Given the description of an element on the screen output the (x, y) to click on. 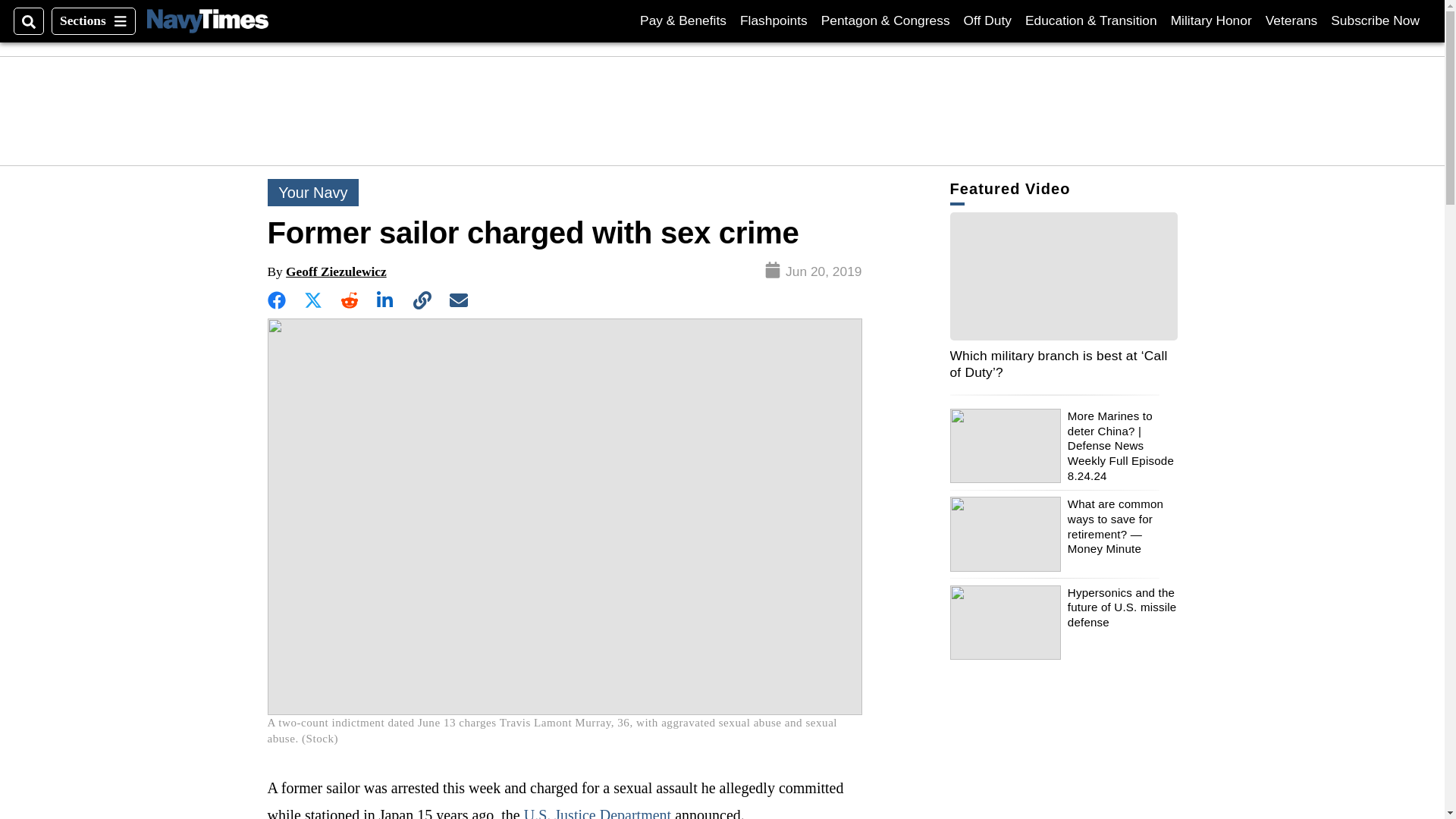
Navy Times Logo (1374, 20)
Sections (207, 20)
Veterans (92, 21)
Flashpoints (1291, 20)
Military Honor (773, 20)
Off Duty (1211, 20)
